Given the description of an element on the screen output the (x, y) to click on. 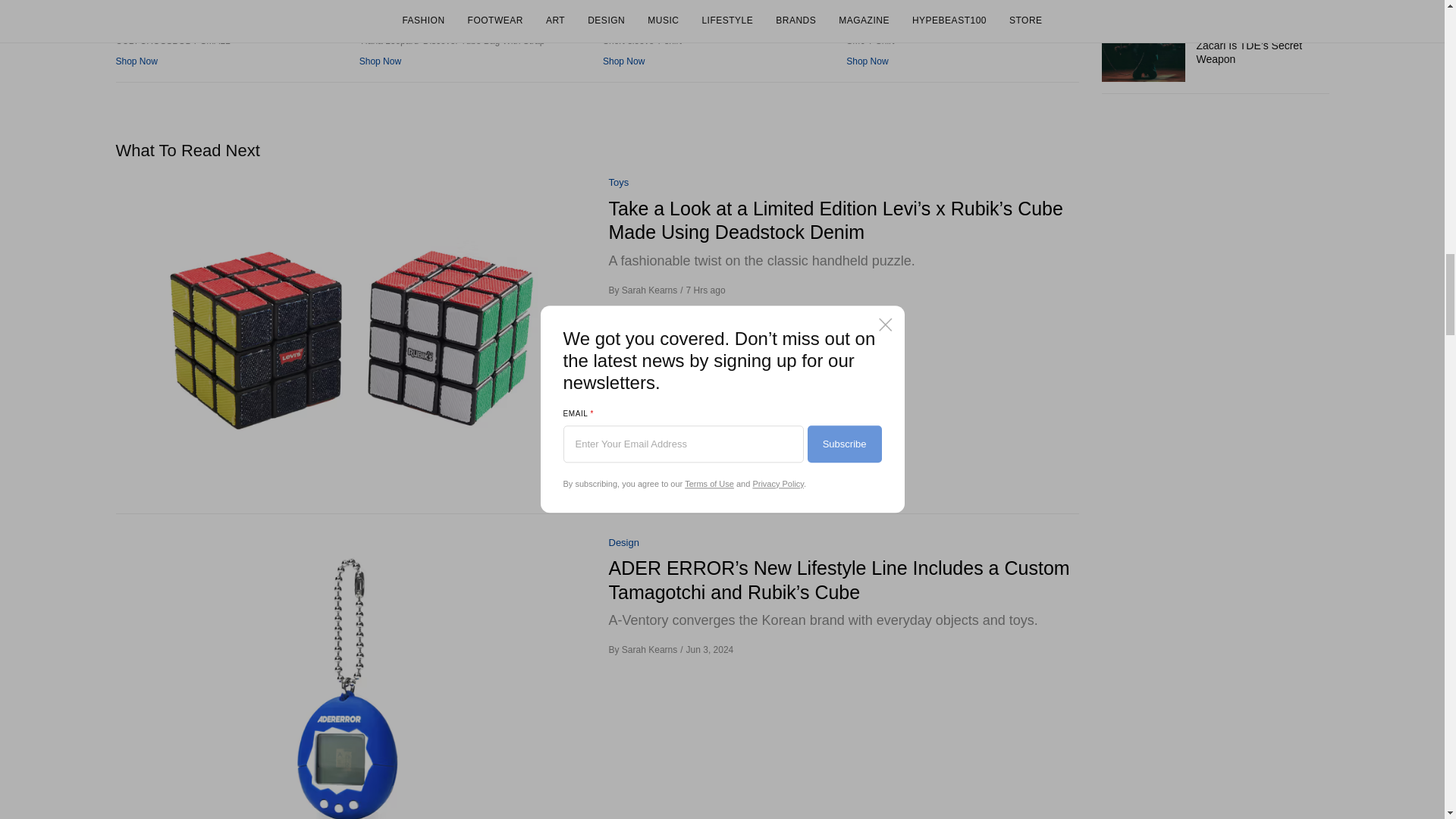
Short-sleeve T-shirt (718, 4)
SM6 T-Shirt (961, 4)
'Hana Leopard' Discover Tube Bag With Strap (475, 4)
CUBI CROSSBODY SMALL (231, 4)
